Given the description of an element on the screen output the (x, y) to click on. 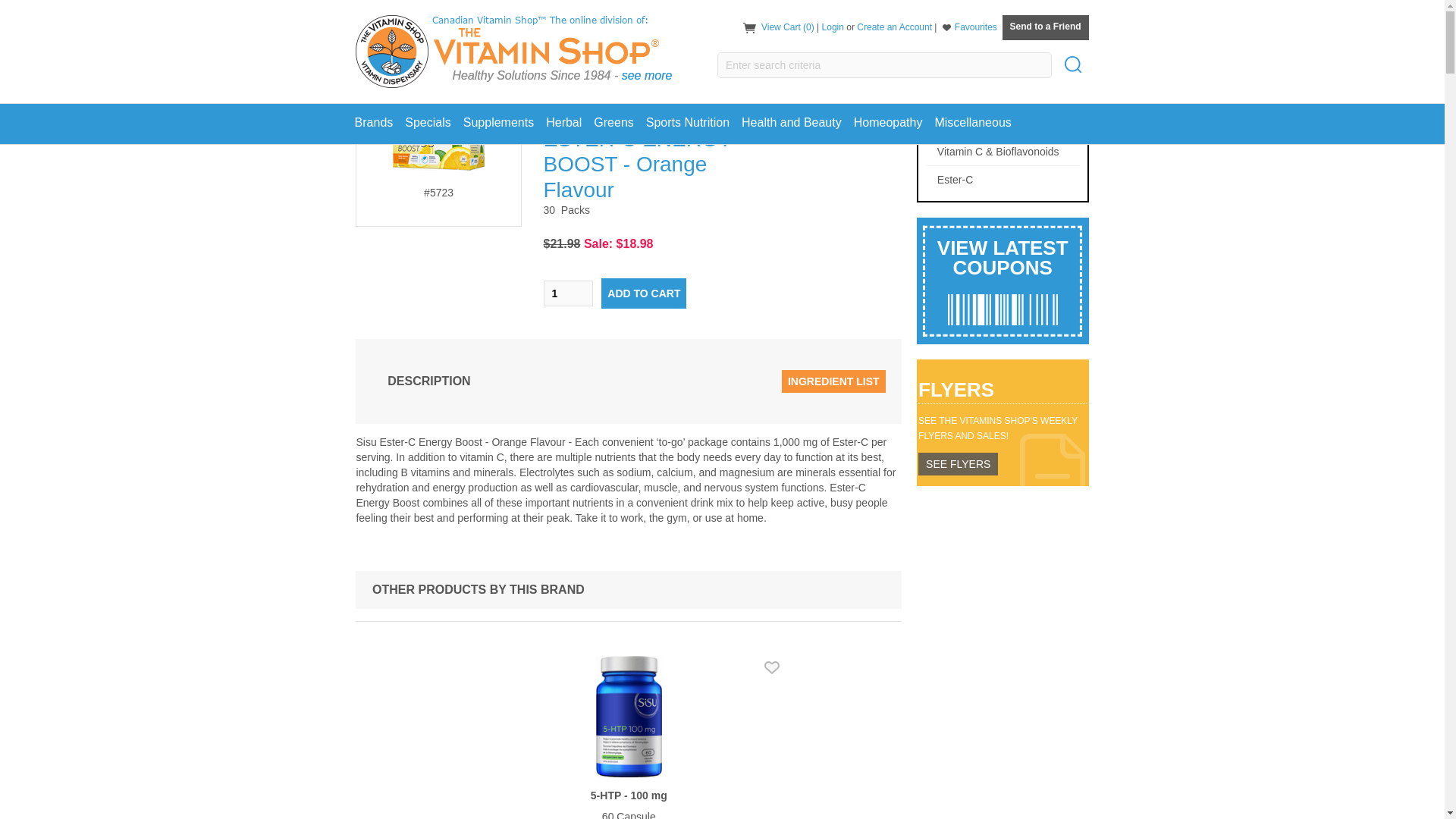
Create an Account (894, 27)
Homeopathy (887, 122)
Send to a Friend (1046, 27)
Herbal (564, 122)
Login (833, 27)
Sports Nutrition (687, 122)
ADD TO CART (643, 293)
see more (646, 74)
ESTER-C ENERGY BOOST - Orange Flavour (1003, 15)
Greens (613, 122)
Specials (427, 122)
Home (888, 15)
1 (567, 293)
Health and Beauty (791, 122)
Brands (373, 122)
